Given the description of an element on the screen output the (x, y) to click on. 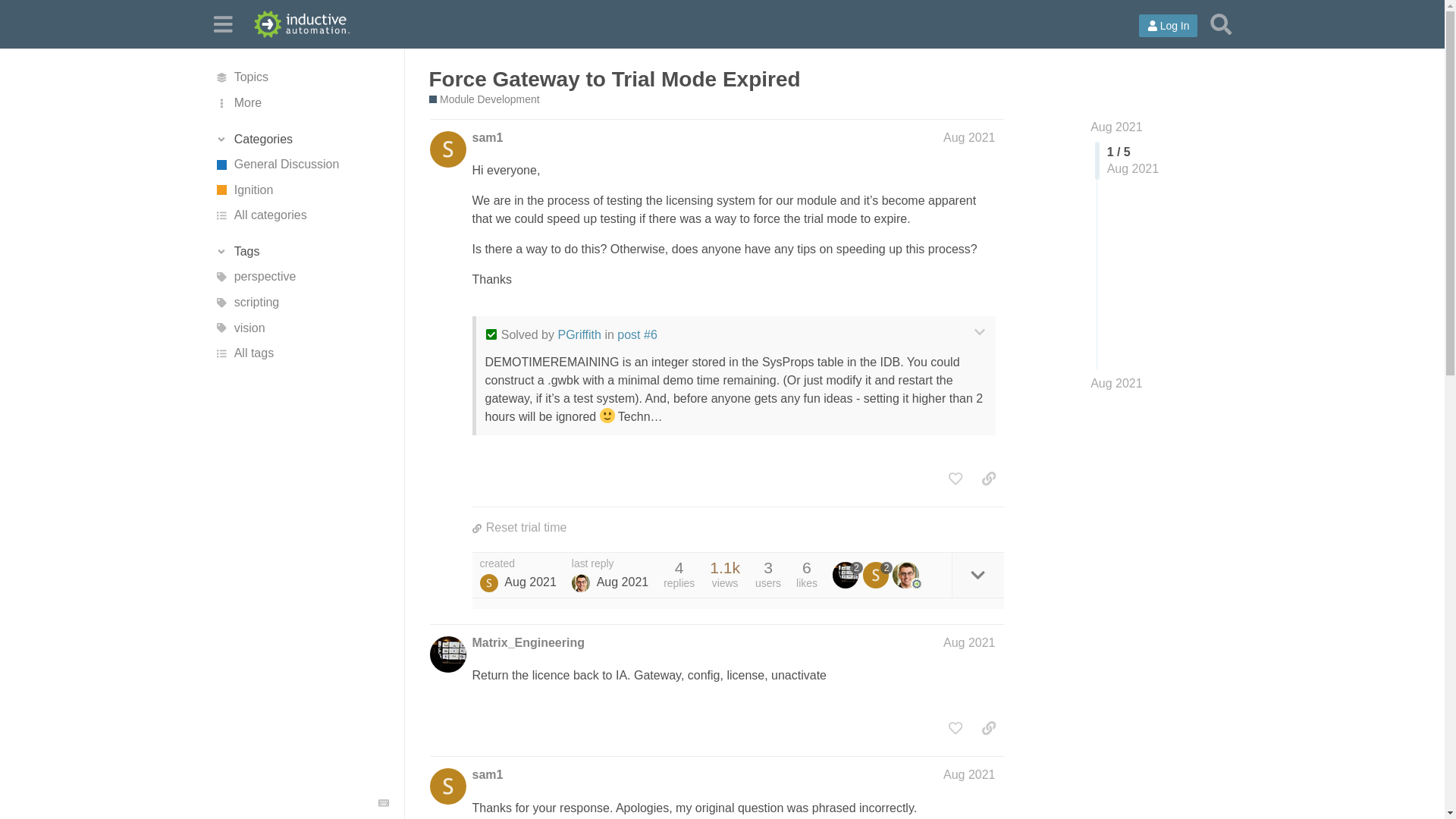
Keyboard Shortcuts (384, 802)
Post date (969, 137)
last reply (609, 563)
Tags (301, 251)
Module Development (484, 99)
Log In (1168, 25)
Sidebar (222, 23)
Aug 2021 (1116, 383)
Categories (301, 139)
Topics (301, 77)
Force Gateway to Trial Mode Expired (614, 78)
Toggle section (301, 139)
sam1 (486, 137)
2 (847, 574)
